Given the description of an element on the screen output the (x, y) to click on. 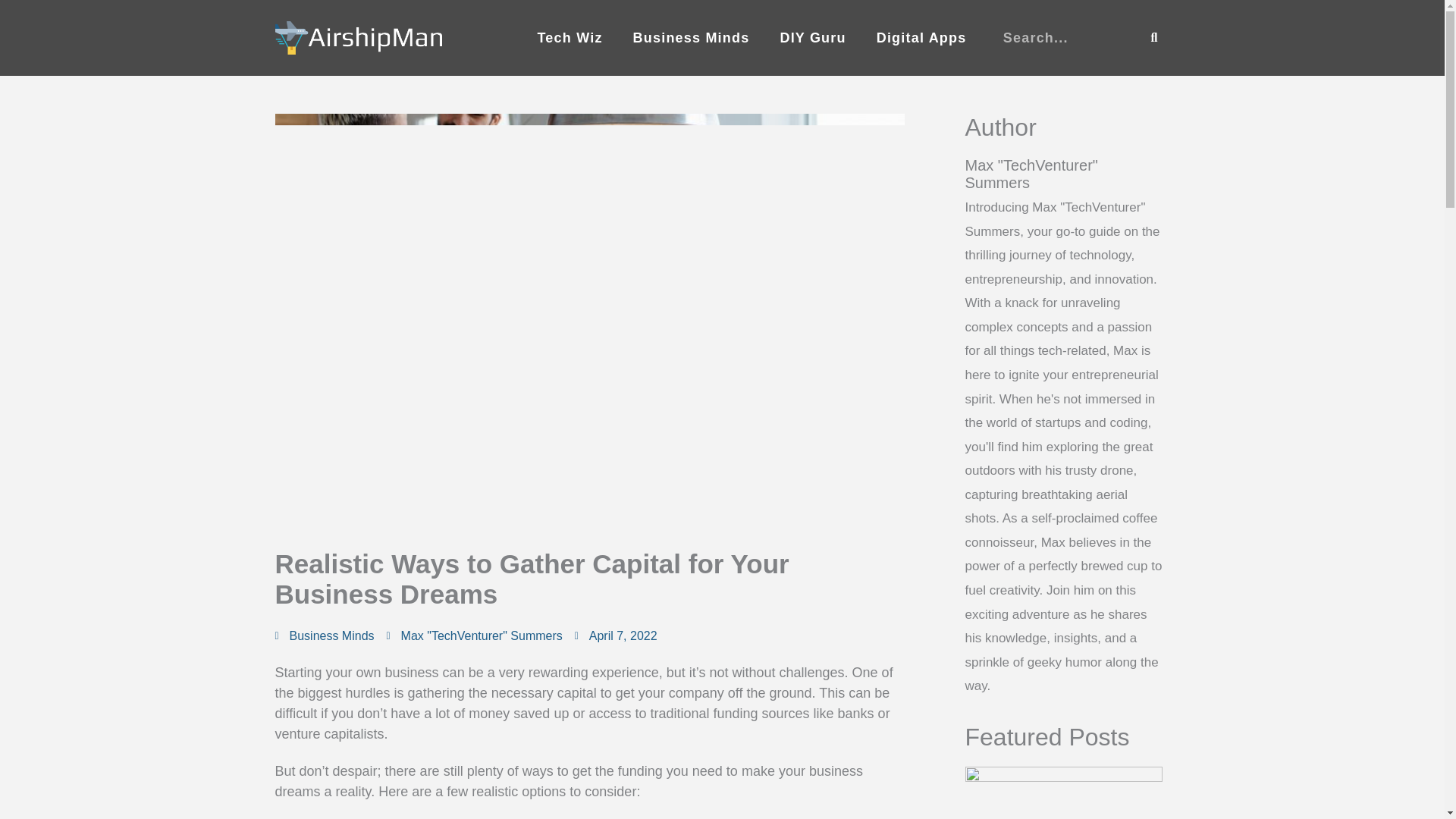
Search (1153, 37)
Tech Wiz (569, 37)
Business Minds (691, 37)
Digital Apps (921, 37)
DIY Guru (812, 37)
April 7, 2022 (616, 635)
Business Minds (331, 635)
